Given the description of an element on the screen output the (x, y) to click on. 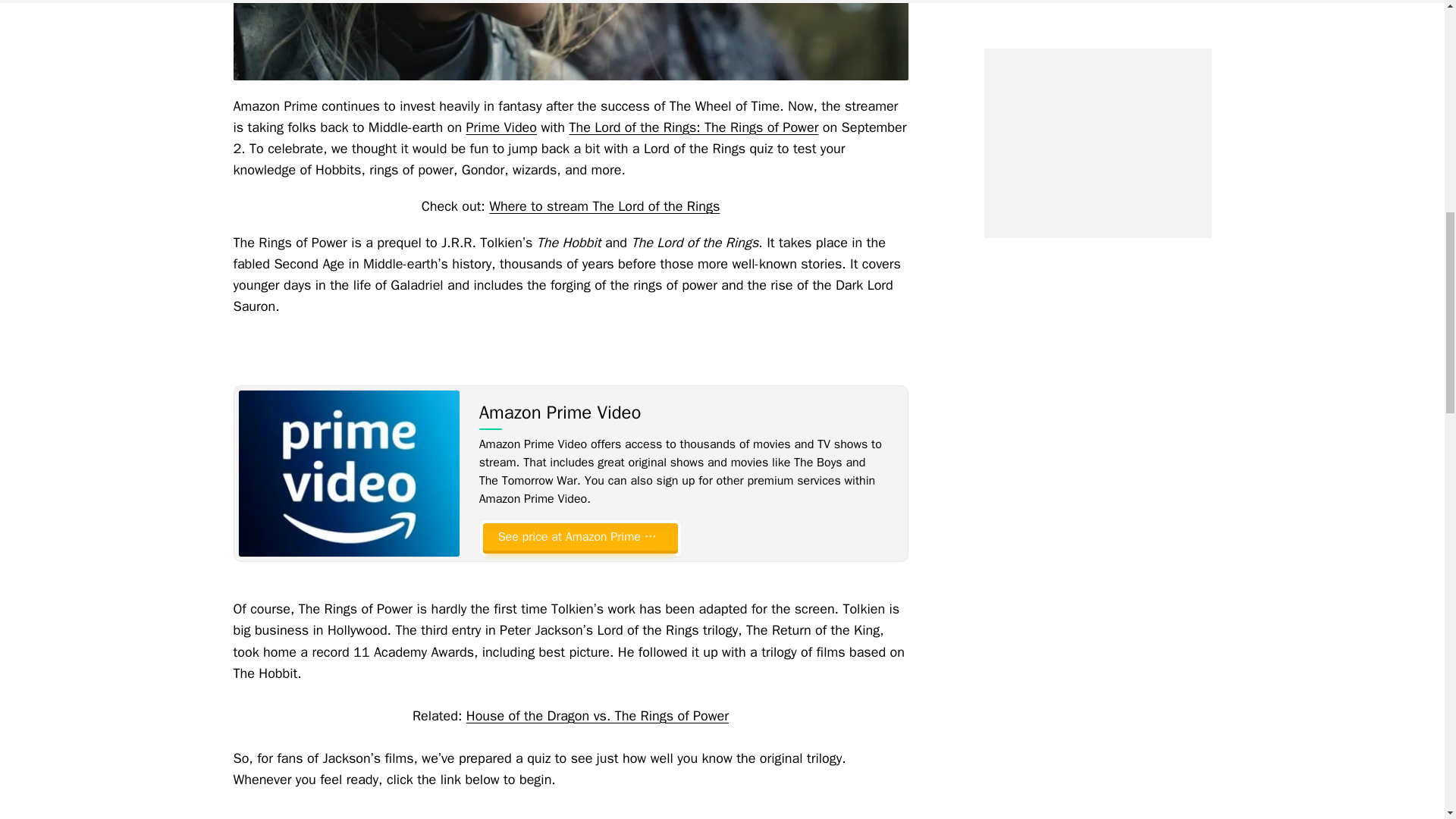
Where to stream The Lord of the Rings (604, 206)
The Lord of the Rings: The Rings of Power (693, 126)
Prime Video (501, 126)
House of the Dragon vs. The Rings of Power (597, 715)
See price at Amazon Prime Video (579, 536)
Prime video logo (348, 473)
The Lord of the Rings: The Rings of Power 1 (570, 40)
